Given the description of an element on the screen output the (x, y) to click on. 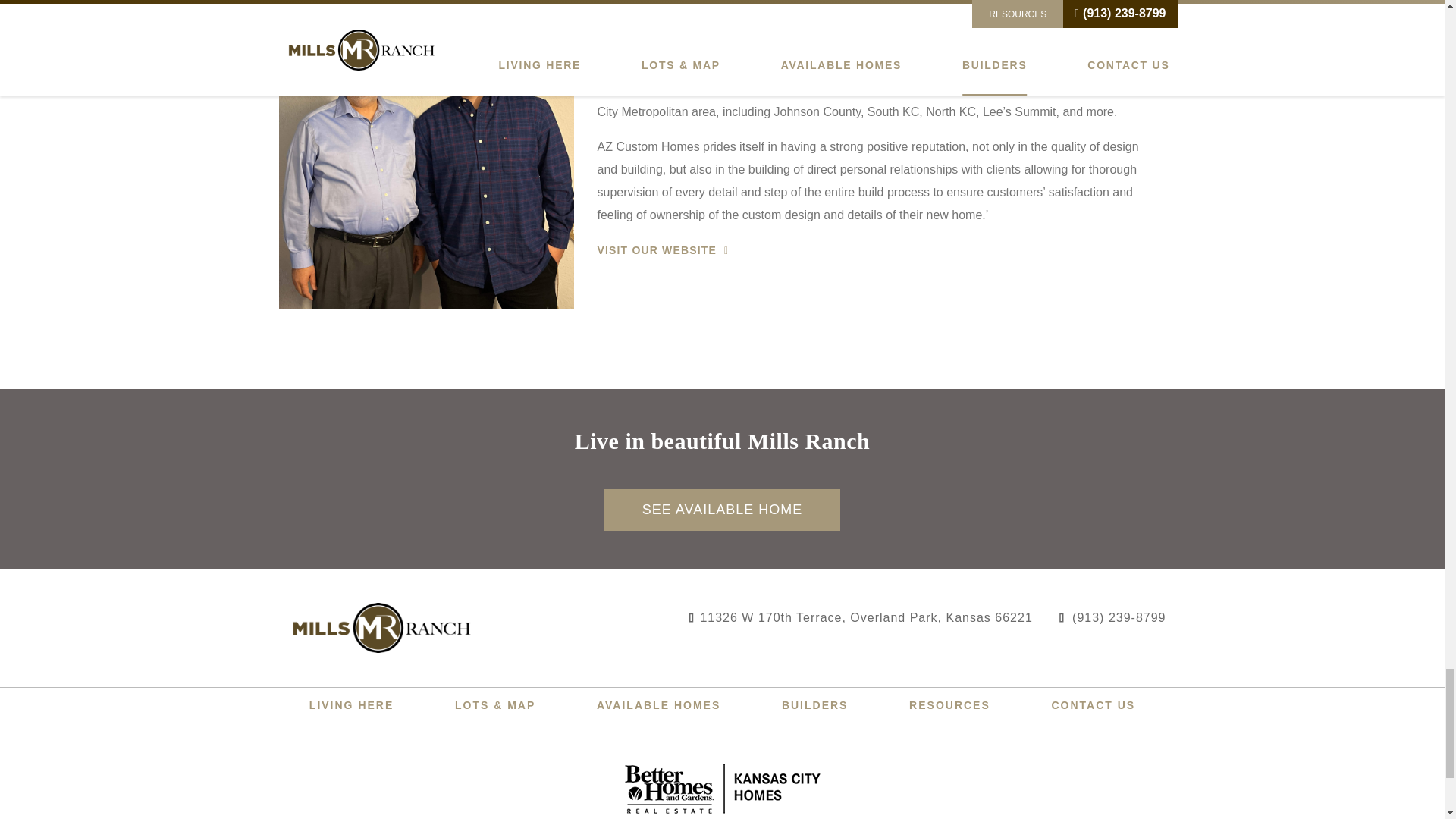
BUILDERS (814, 704)
Living Here (350, 704)
SEE AVAILABLE HOME (722, 509)
RESOURCES (949, 704)
Available Homes (658, 704)
VISIT OUR WEBSITE (658, 250)
AVAILABLE HOMES (658, 704)
Builders (814, 704)
Resources (949, 704)
11326 W 170th Terrace, Overland Park, Kansas 66221 (871, 617)
